Given the description of an element on the screen output the (x, y) to click on. 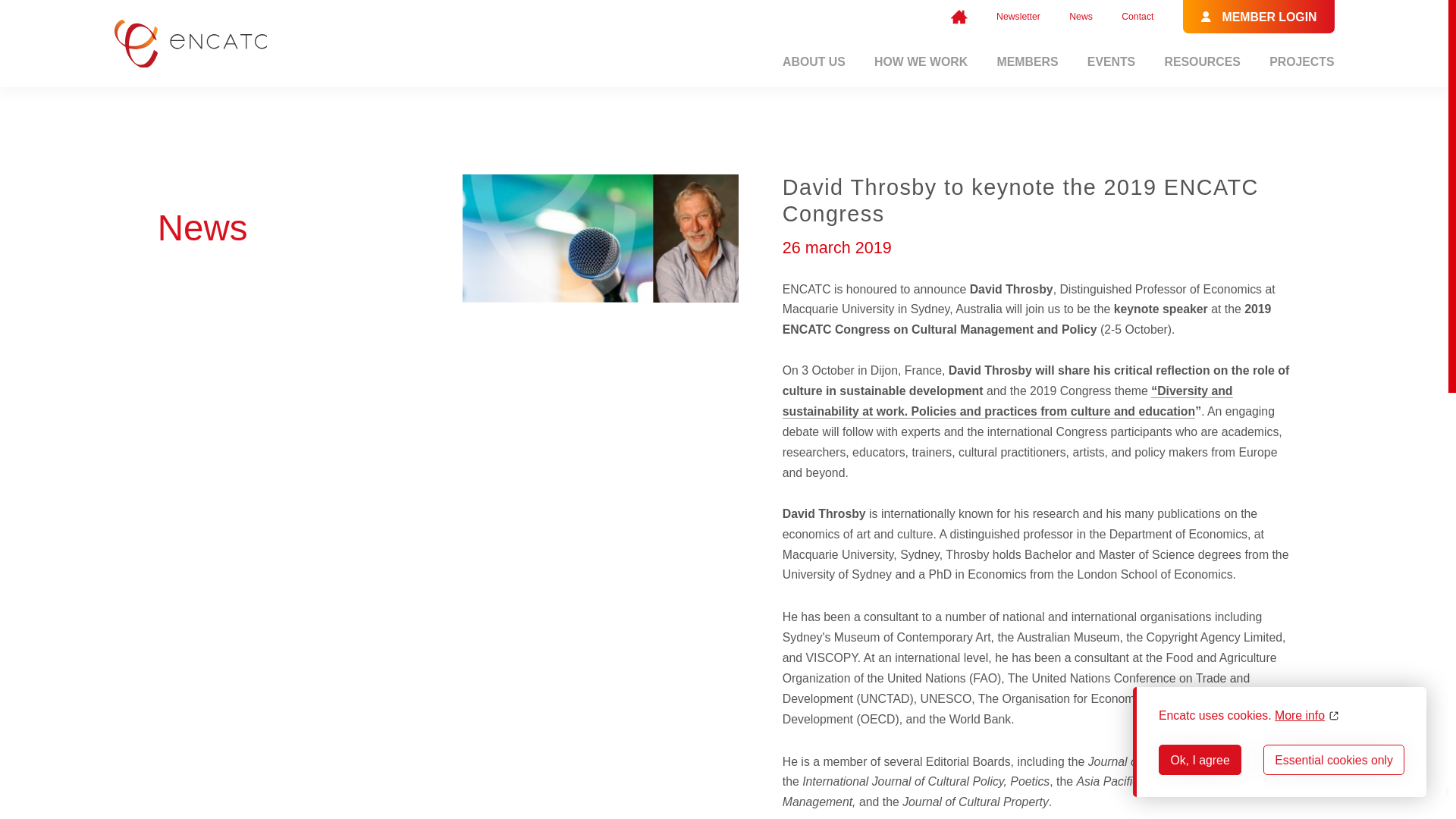
News (1080, 16)
MEMBERS (1027, 61)
RESOURCES (1202, 61)
Encatc (959, 16)
Essential cookies only (1334, 759)
HOW WE WORK (921, 61)
More info (1307, 715)
MEMBER LOGIN (1258, 16)
Contact (1137, 16)
Newsletter (1018, 16)
News (1080, 16)
Ok, I agree (1199, 759)
About us (814, 61)
ABOUT US (814, 61)
Encatc (189, 43)
